Given the description of an element on the screen output the (x, y) to click on. 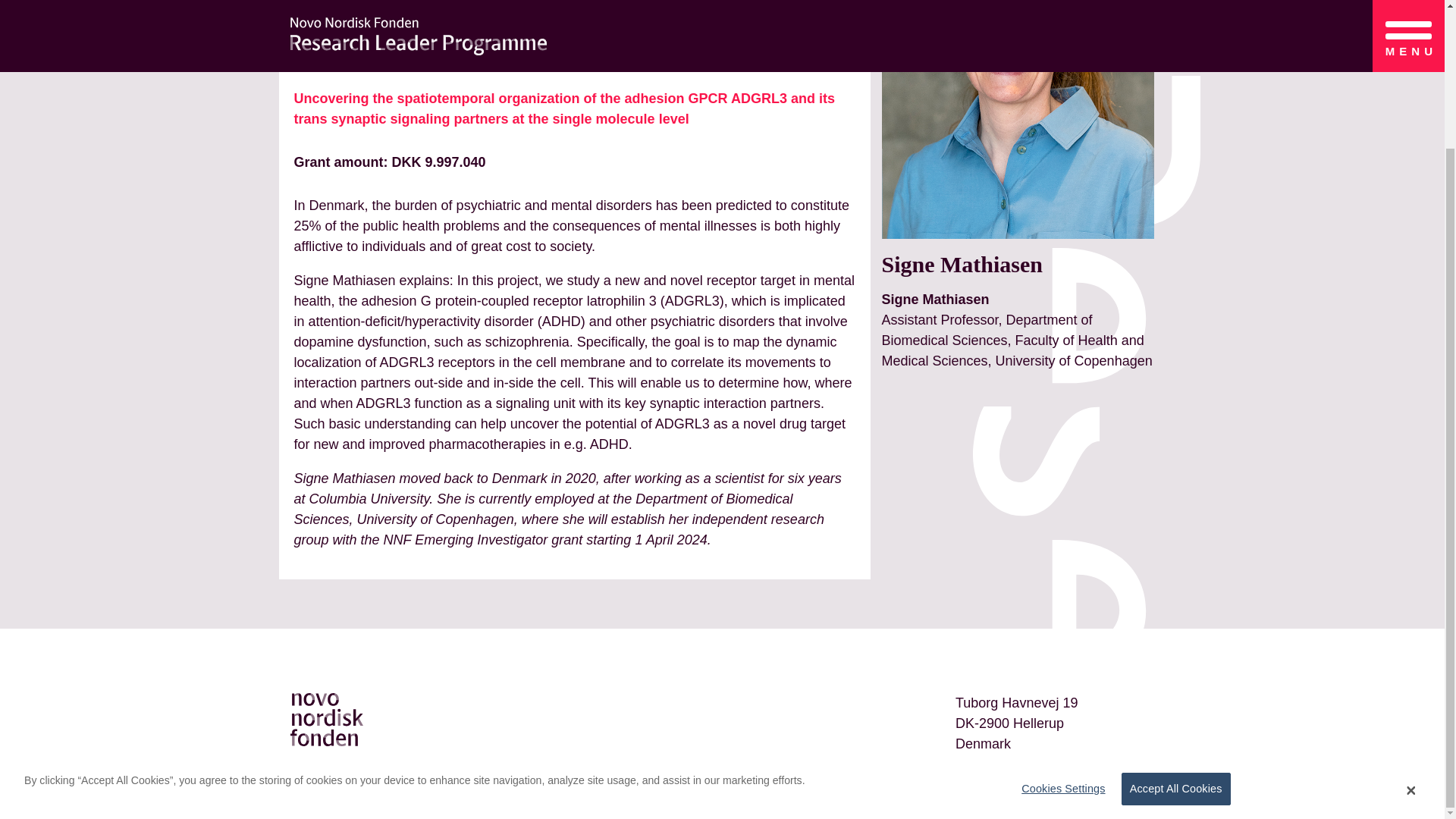
Accept All Cookies (1175, 617)
Cookies Settings (1058, 617)
